Given the description of an element on the screen output the (x, y) to click on. 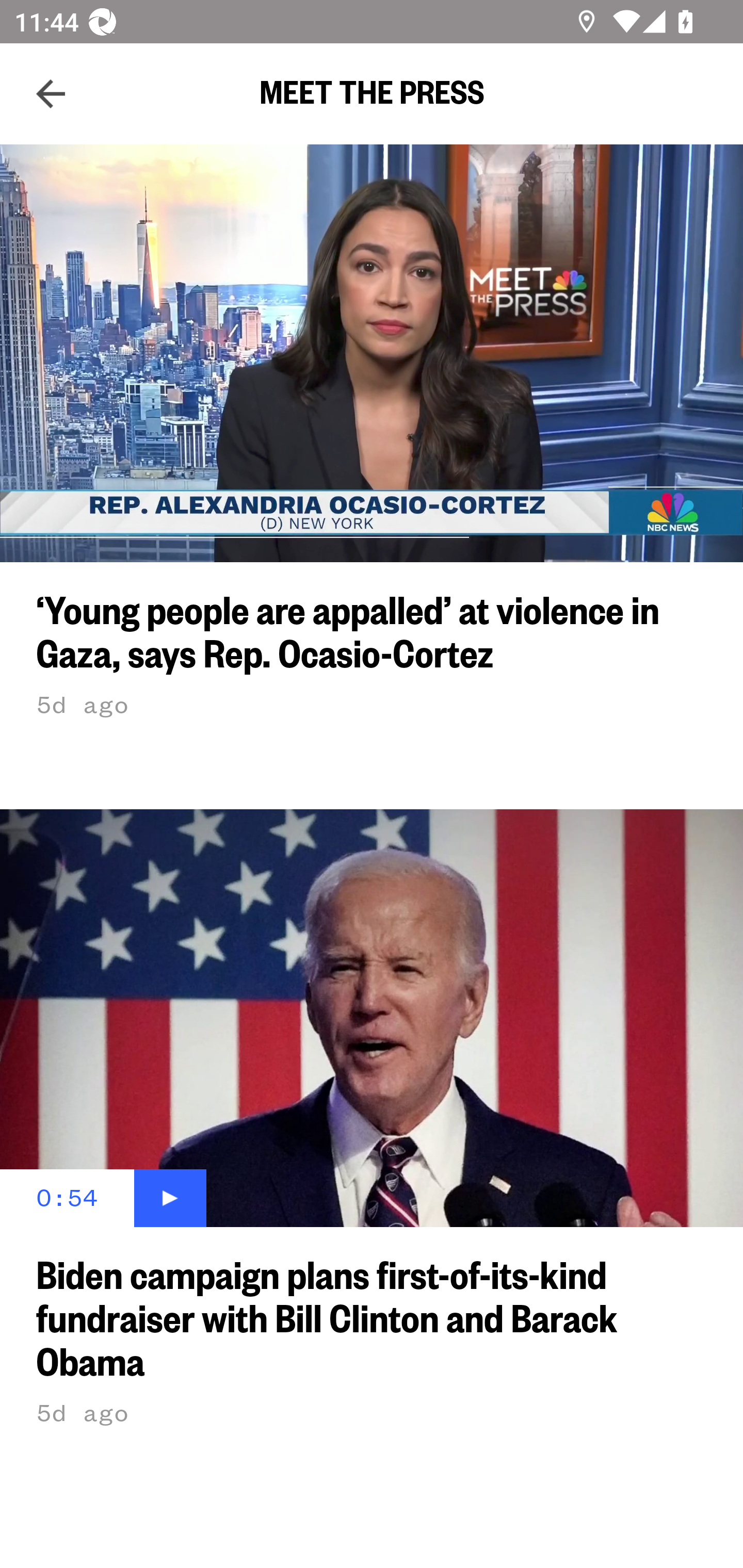
Navigate up (50, 93)
